Given the description of an element on the screen output the (x, y) to click on. 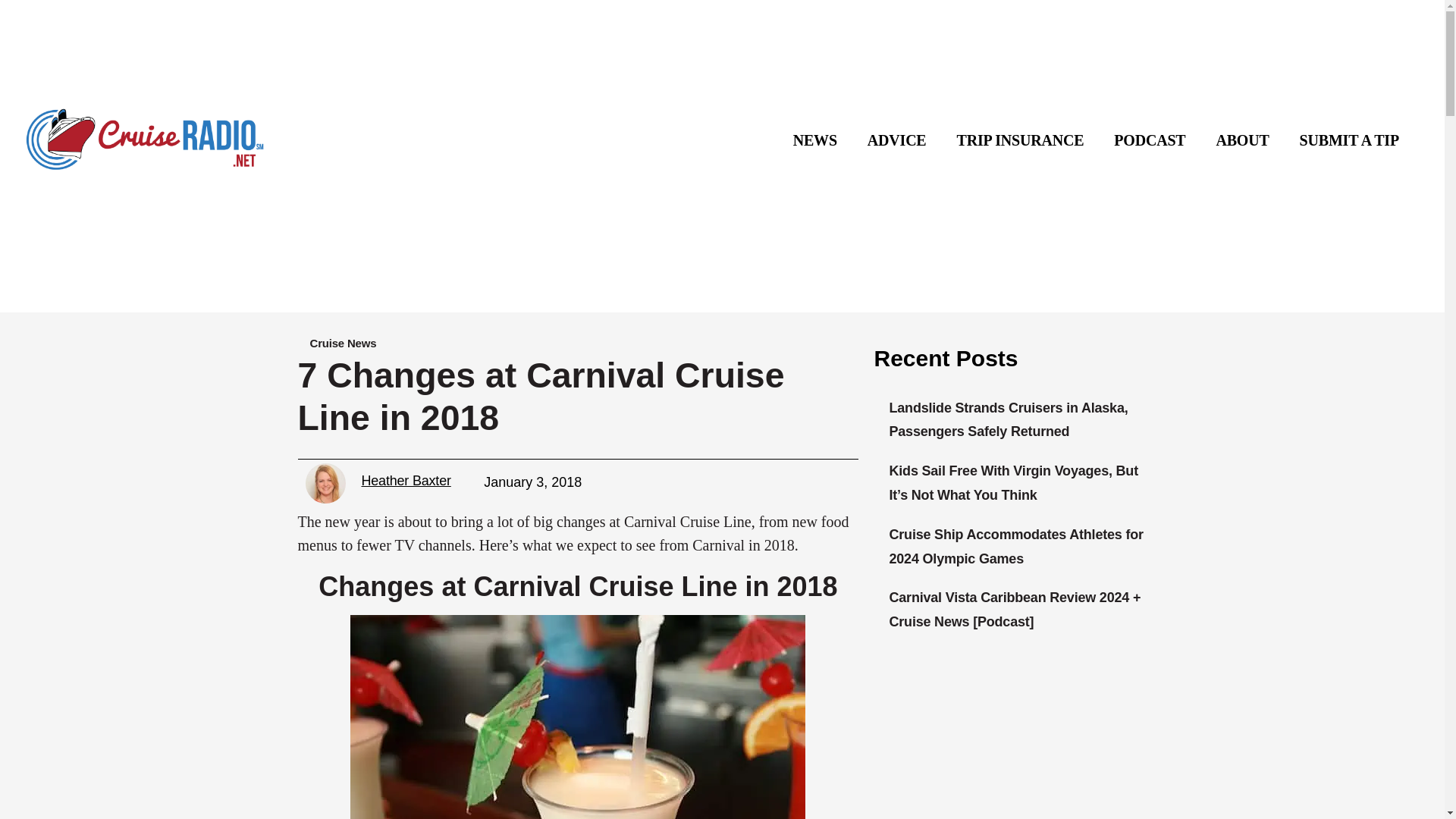
Heather Baxter (414, 481)
PODCAST (1149, 140)
Cruise News (342, 342)
NEWS (814, 140)
ADVICE (896, 140)
Cruise Ship Accommodates Athletes for 2024 Olympic Games (1015, 546)
ABOUT (1241, 140)
SUBMIT A TIP (1348, 140)
TRIP INSURANCE (1020, 140)
